Given the description of an element on the screen output the (x, y) to click on. 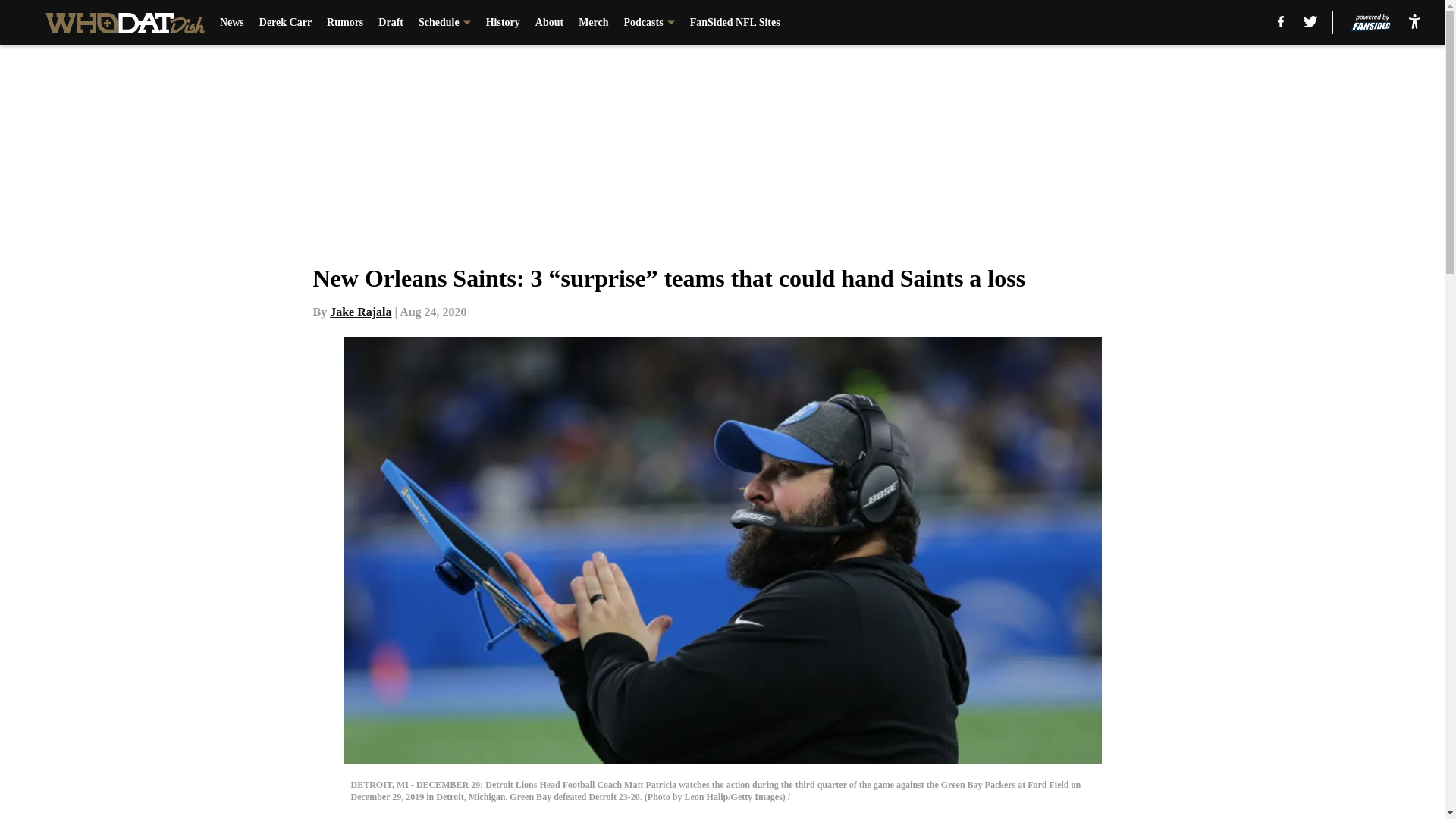
About (549, 22)
Draft (390, 22)
Derek Carr (285, 22)
Merch (593, 22)
History (502, 22)
Jake Rajala (360, 311)
Rumors (344, 22)
FanSided NFL Sites (735, 22)
News (231, 22)
